Given the description of an element on the screen output the (x, y) to click on. 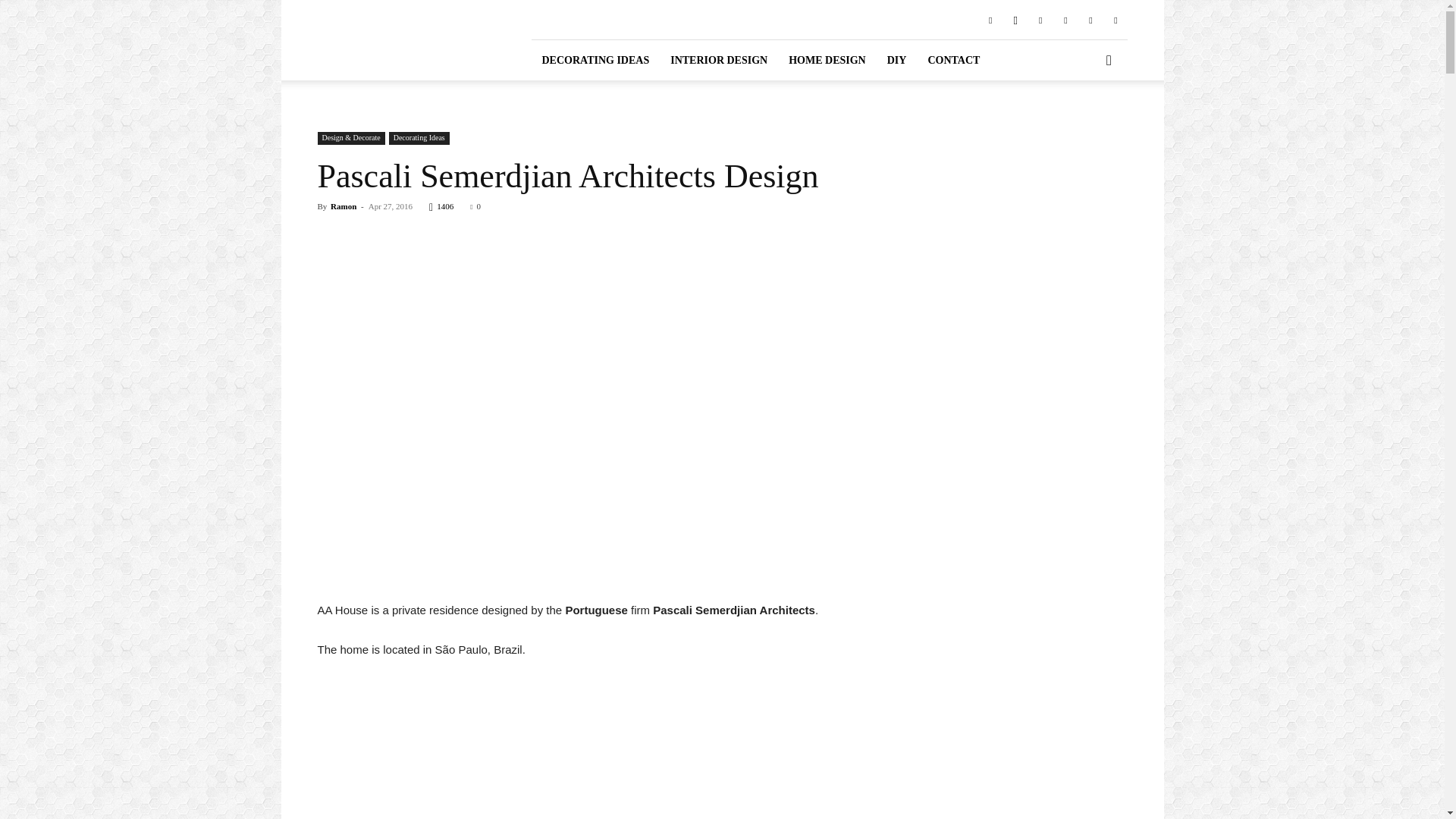
CONTACT (953, 60)
DECORATING IDEAS (595, 60)
RSS (1065, 19)
Pinterest (1040, 19)
Facebook (989, 19)
0 (475, 205)
Search (1085, 122)
Instagram (1015, 19)
WordPress (1114, 19)
DIY (896, 60)
